Given the description of an element on the screen output the (x, y) to click on. 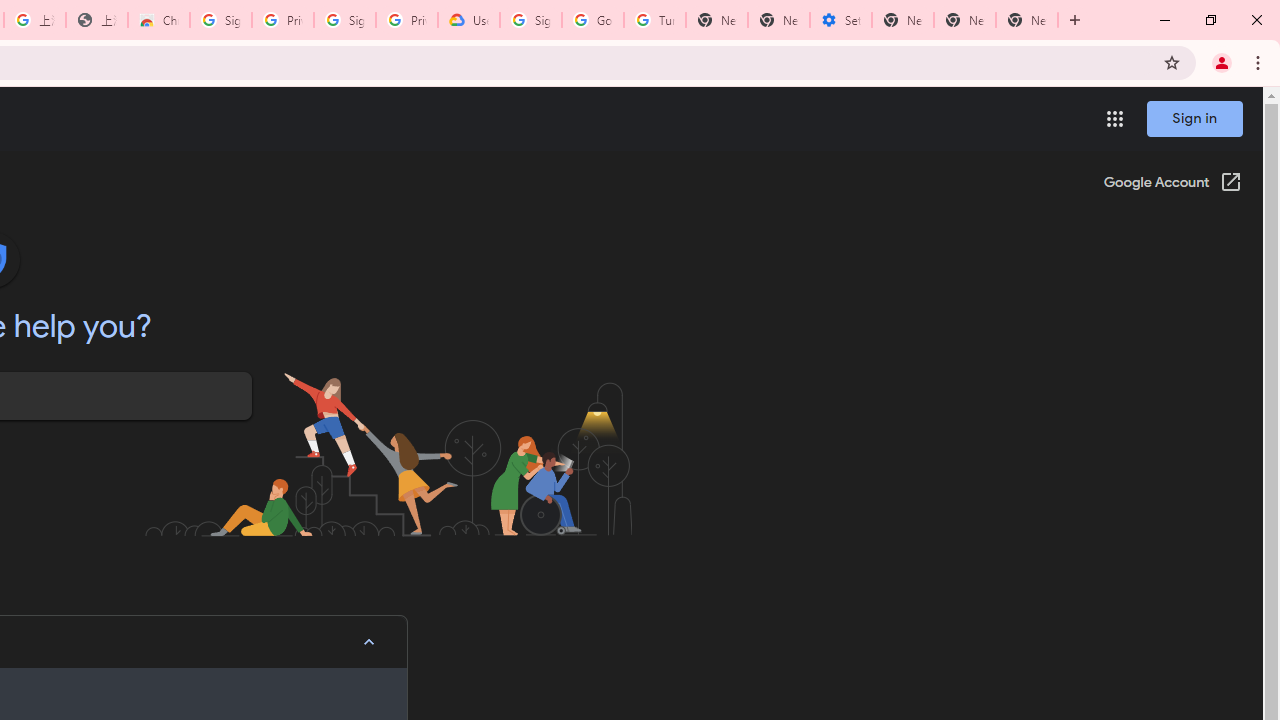
New Tab (1026, 20)
New Tab (716, 20)
Settings - System (840, 20)
Sign in - Google Accounts (530, 20)
Sign in - Google Accounts (220, 20)
